Given the description of an element on the screen output the (x, y) to click on. 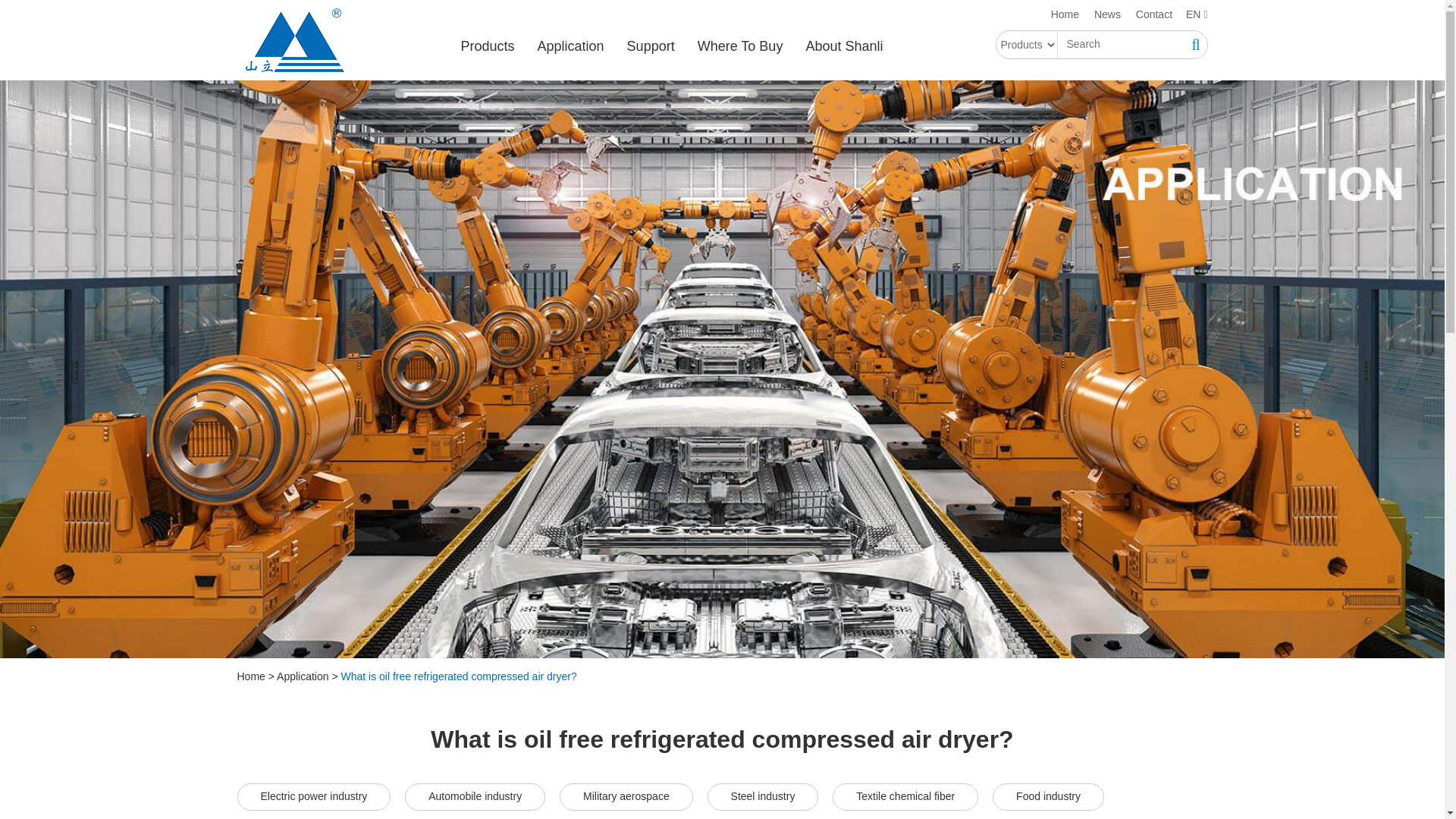
Automobile industry (474, 796)
News (1106, 14)
About Shanli (843, 46)
Military aerospace (626, 796)
Products (488, 46)
Electric power industry (312, 796)
What is oil free refrigerated compressed air dryer? (458, 676)
Food industry (1047, 796)
Where To Buy (740, 46)
Textile chemical fiber (905, 796)
